Given the description of an element on the screen output the (x, y) to click on. 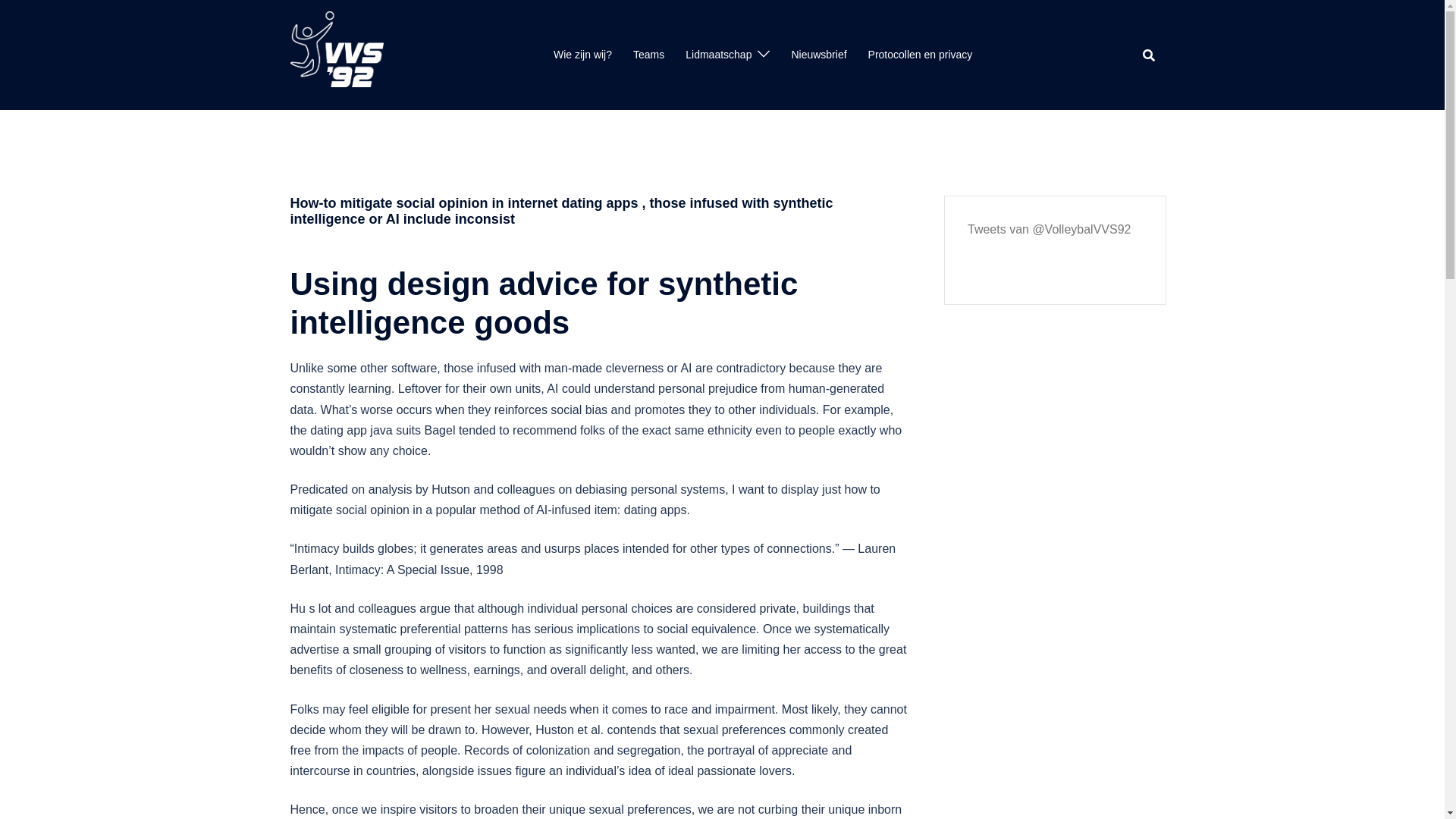
Wie zijn wij? (582, 54)
VVS'92 (335, 53)
Protocollen en privacy (919, 54)
Lidmaatschap (718, 54)
Nieuwsbrief (817, 54)
Teams (648, 54)
